Given the description of an element on the screen output the (x, y) to click on. 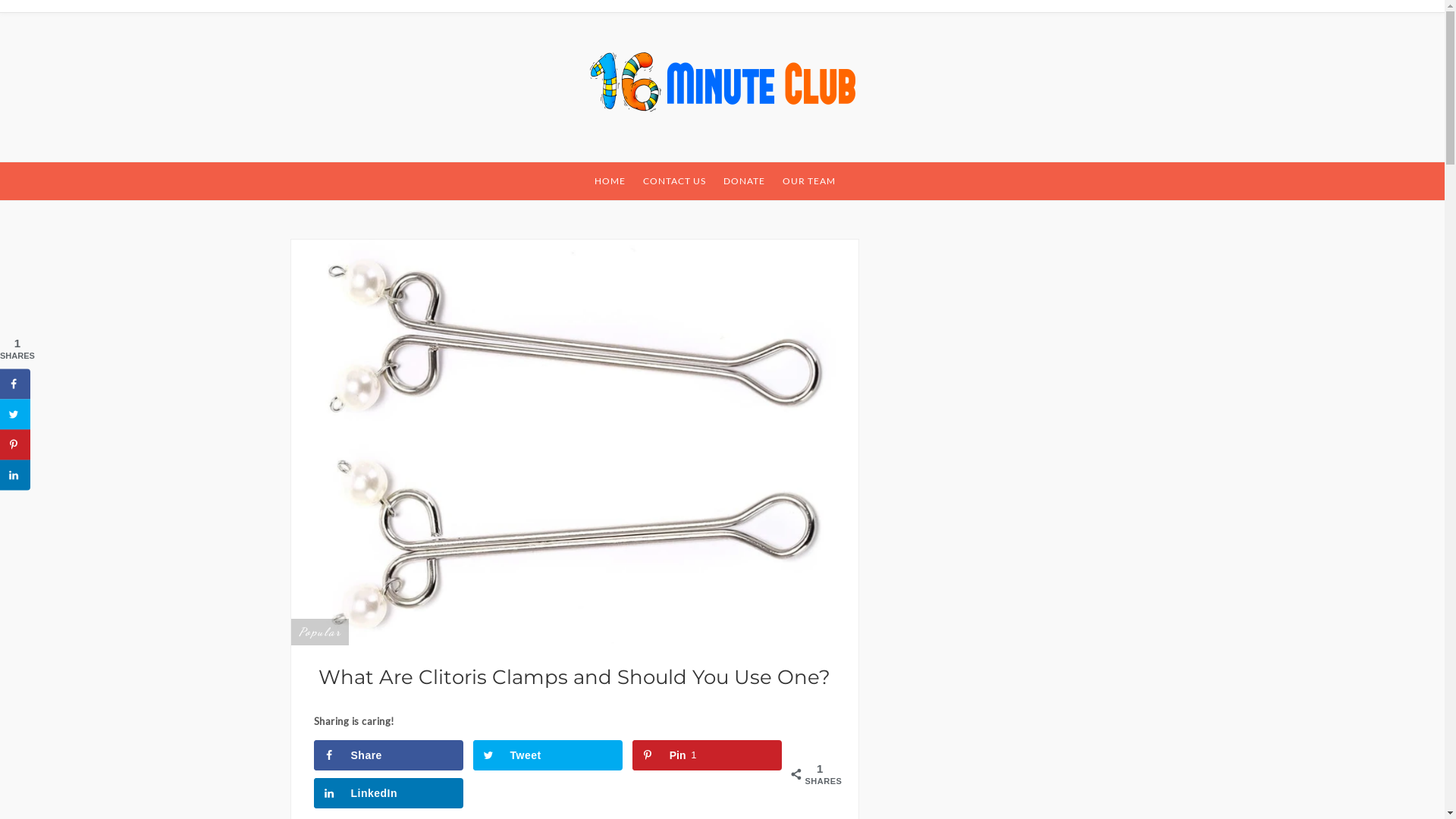
DONATE Element type: text (744, 181)
What Are Clitoris Clamps and Should You Use One? Element type: hover (574, 441)
Share Element type: text (388, 755)
Tweet Element type: text (548, 755)
CONTACT US Element type: text (674, 181)
Share on Twitter Element type: hover (15, 413)
Share on Facebook Element type: hover (15, 383)
LinkedIn Element type: text (388, 793)
OUR TEAM Element type: text (808, 181)
Popular Element type: text (319, 631)
HOME Element type: text (609, 181)
16 Minute Club Element type: text (215, 168)
Pin
1 Element type: text (707, 755)
Share on LinkedIn Element type: hover (15, 474)
Save to Pinterest Element type: hover (15, 444)
